Given the description of an element on the screen output the (x, y) to click on. 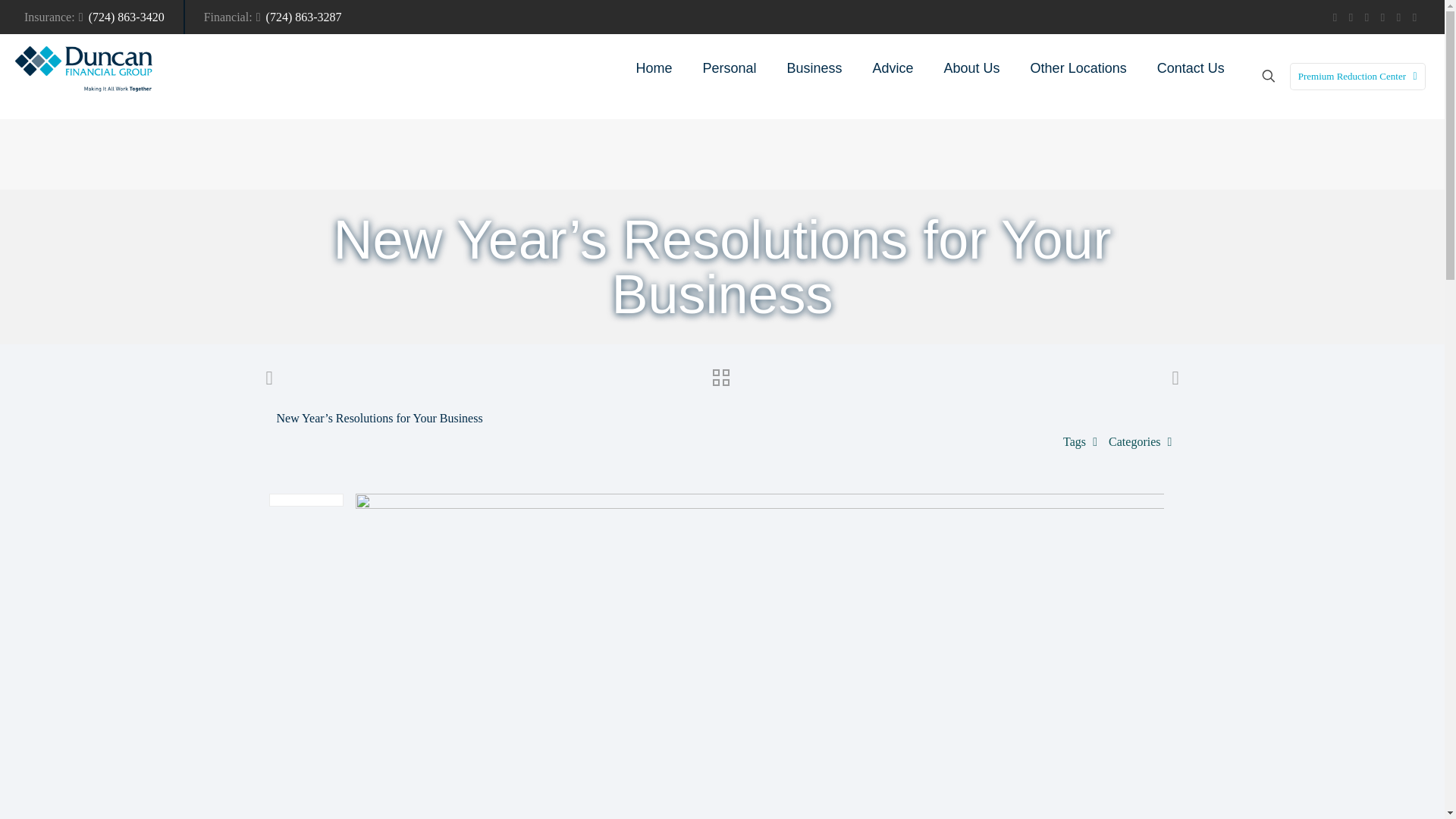
Facebook (1334, 17)
Personal (729, 68)
Advice (892, 68)
Xing (1415, 17)
Instagram (1383, 17)
About Us (971, 68)
Other Locations (1077, 68)
Duncan Financial Group (83, 68)
VKontakte (1399, 17)
Contact Us (1190, 68)
